Given the description of an element on the screen output the (x, y) to click on. 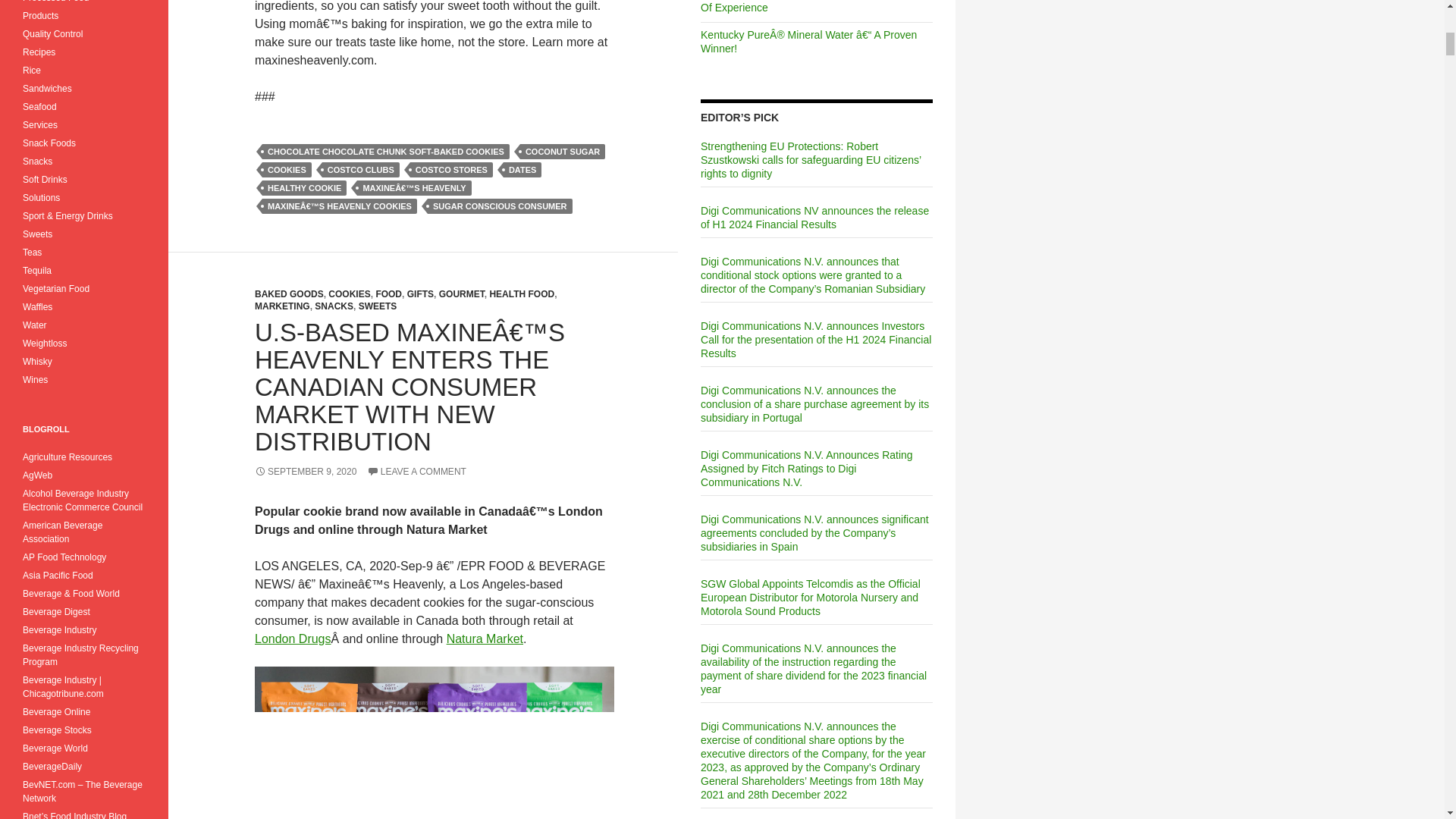
MARKETING (282, 306)
HEALTH FOOD (521, 294)
SNACKS (333, 306)
COSTCO CLUBS (359, 169)
SUGAR CONSCIOUS CONSUMER (500, 206)
COSTCO STORES (451, 169)
GOURMET (461, 294)
DATES (522, 169)
SEPTEMBER 9, 2020 (305, 471)
FOOD (388, 294)
